Given the description of an element on the screen output the (x, y) to click on. 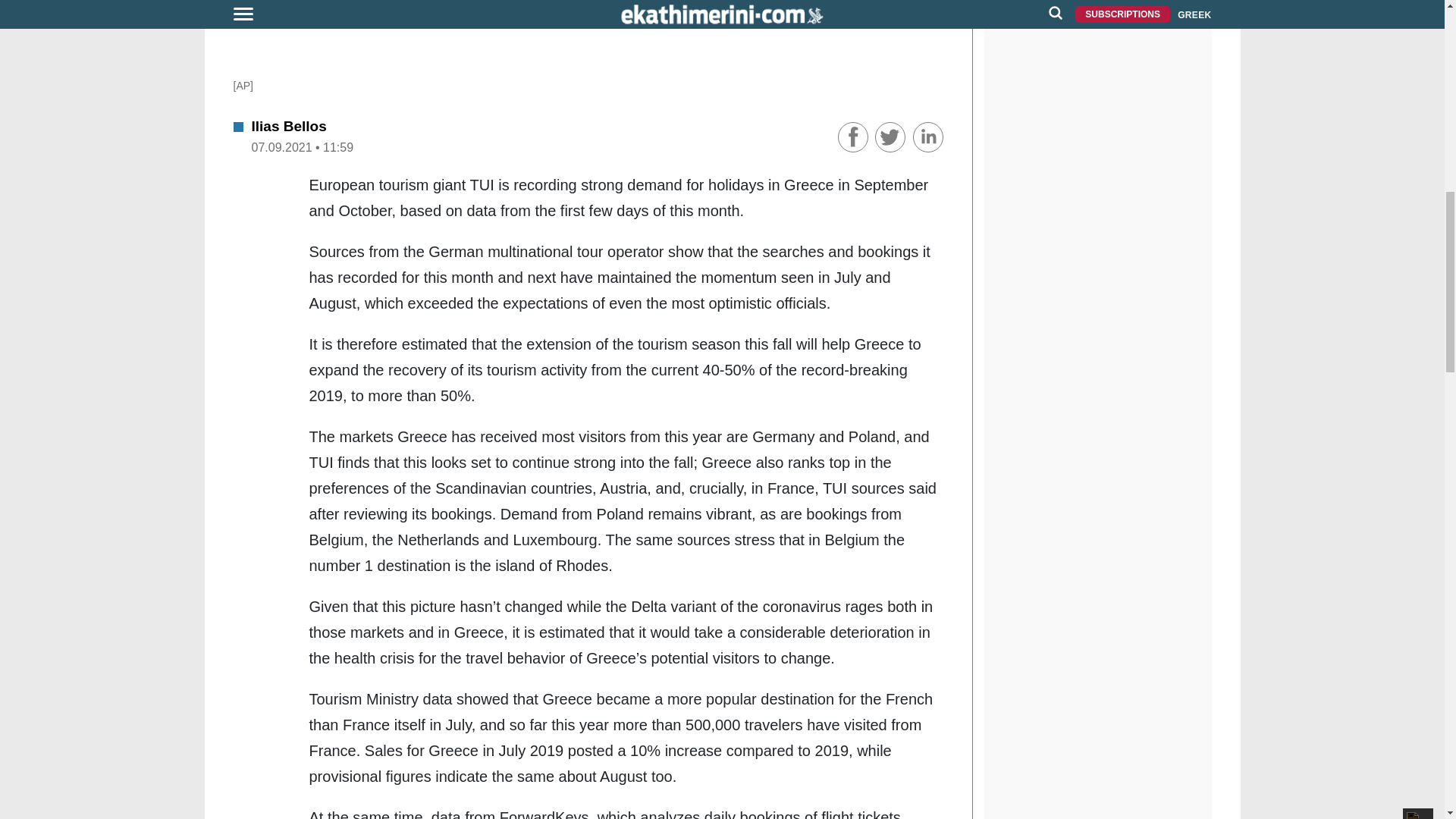
View all posts by Ilias Bellos (288, 125)
